Given the description of an element on the screen output the (x, y) to click on. 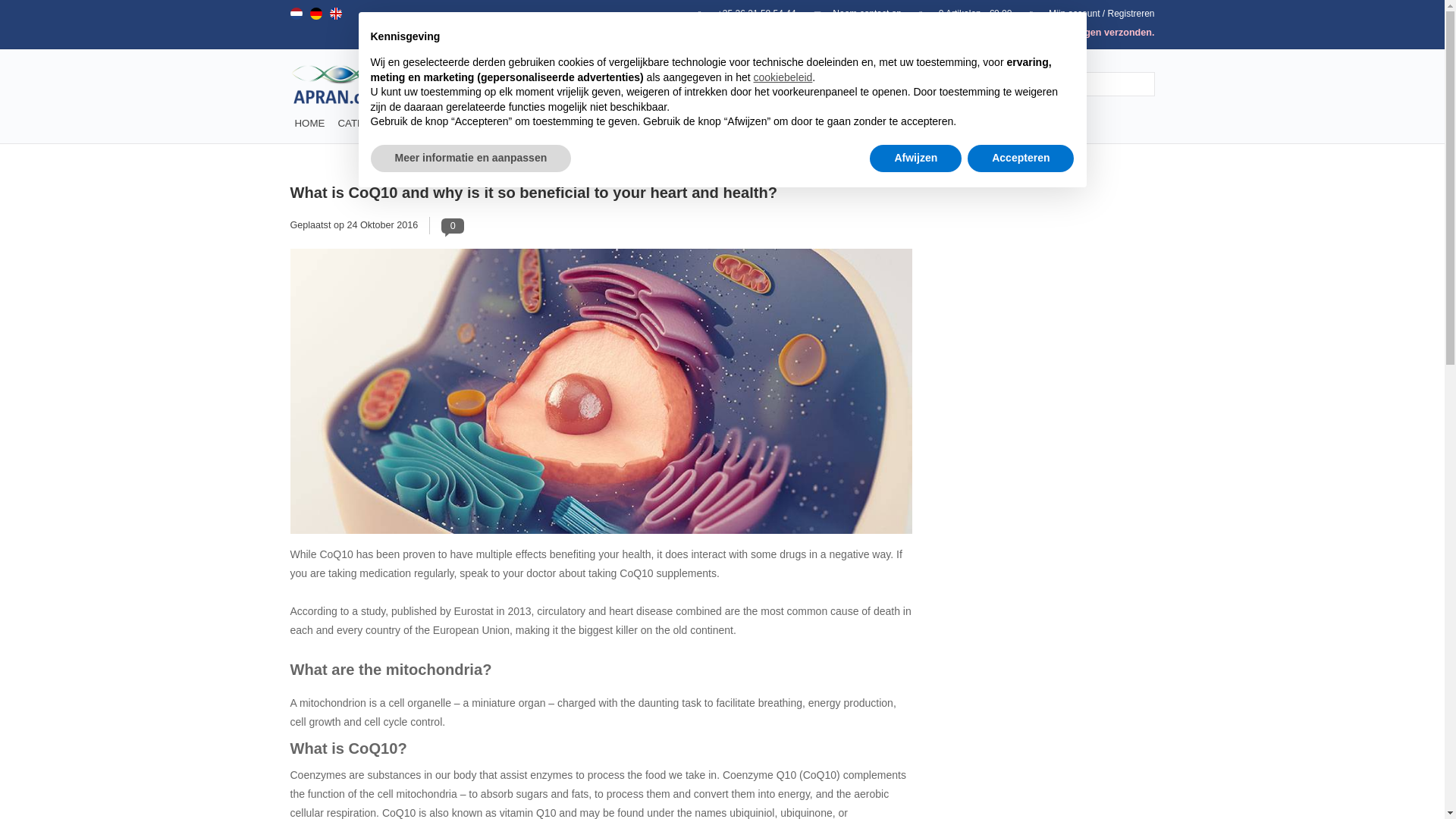
Categorie (366, 123)
Mijn account (1084, 13)
English (334, 13)
Winkelwagen (958, 13)
CATEGORIE (366, 123)
Neem contact op (850, 13)
Deutsch (314, 13)
Deutsch (314, 13)
English (334, 13)
HOME (309, 123)
